Given the description of an element on the screen output the (x, y) to click on. 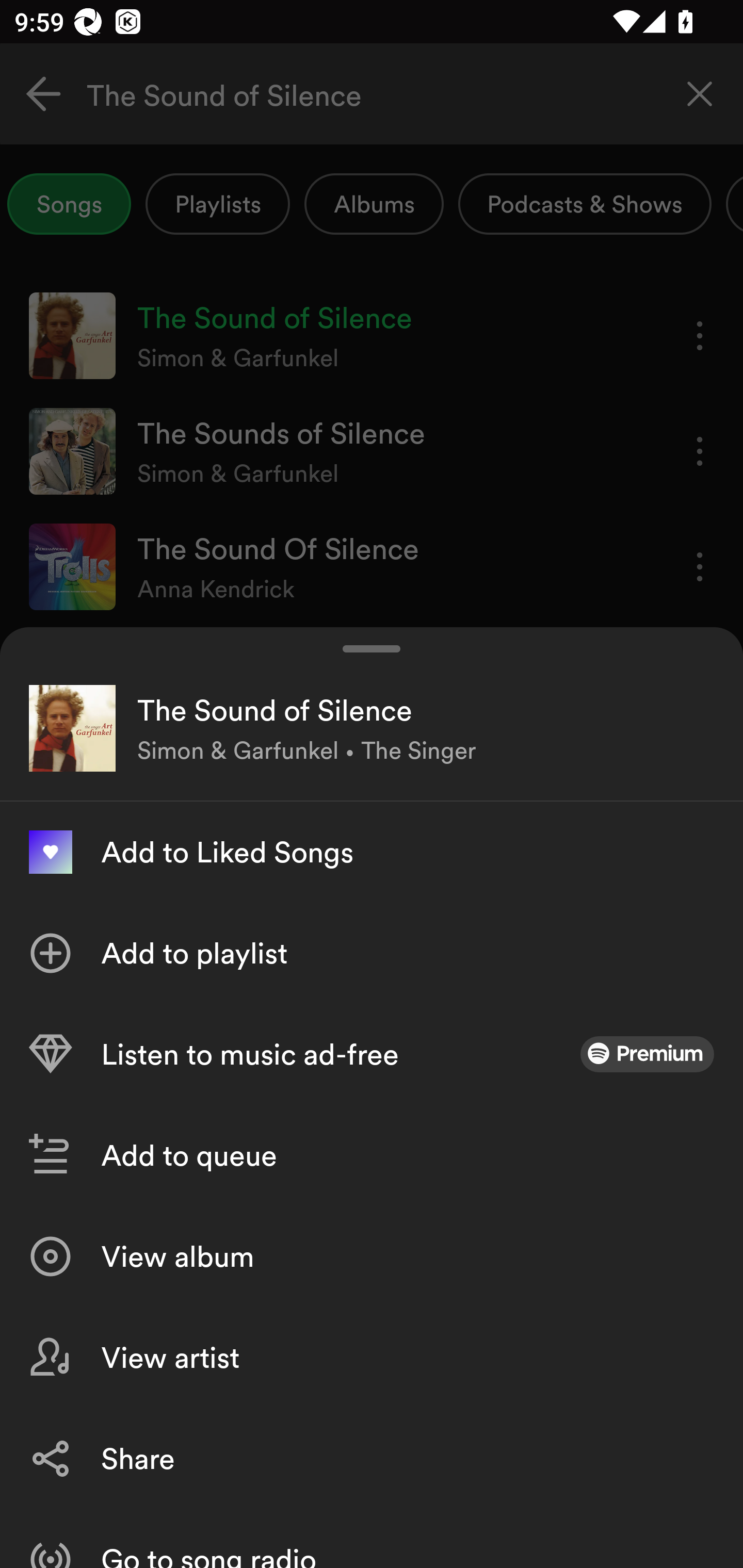
Add to Liked Songs (371, 852)
Add to playlist (371, 953)
Listen to music ad-free (371, 1054)
Add to queue (371, 1155)
View album (371, 1256)
View artist (371, 1357)
Share (371, 1458)
